Given the description of an element on the screen output the (x, y) to click on. 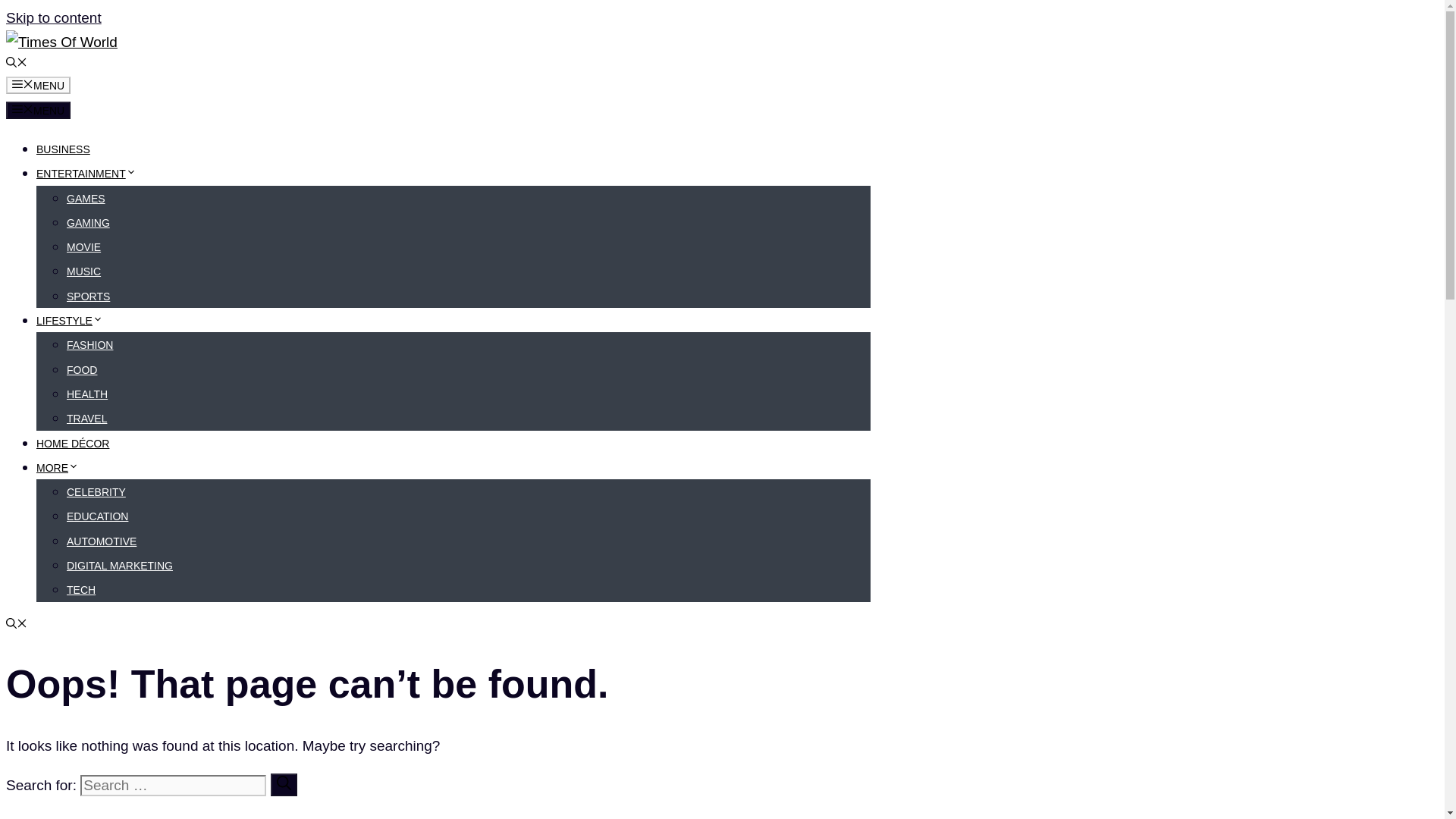
TRAVEL (86, 418)
MUSIC (83, 271)
MORE (57, 467)
TECH (81, 589)
MOVIE (83, 246)
AUTOMOTIVE (101, 541)
Skip to content (53, 17)
GAMES (85, 198)
FASHION (89, 345)
LIFESTYLE (69, 320)
EDUCATION (97, 516)
MENU (37, 109)
CELEBRITY (95, 491)
GAMING (88, 223)
Search for: (173, 785)
